Given the description of an element on the screen output the (x, y) to click on. 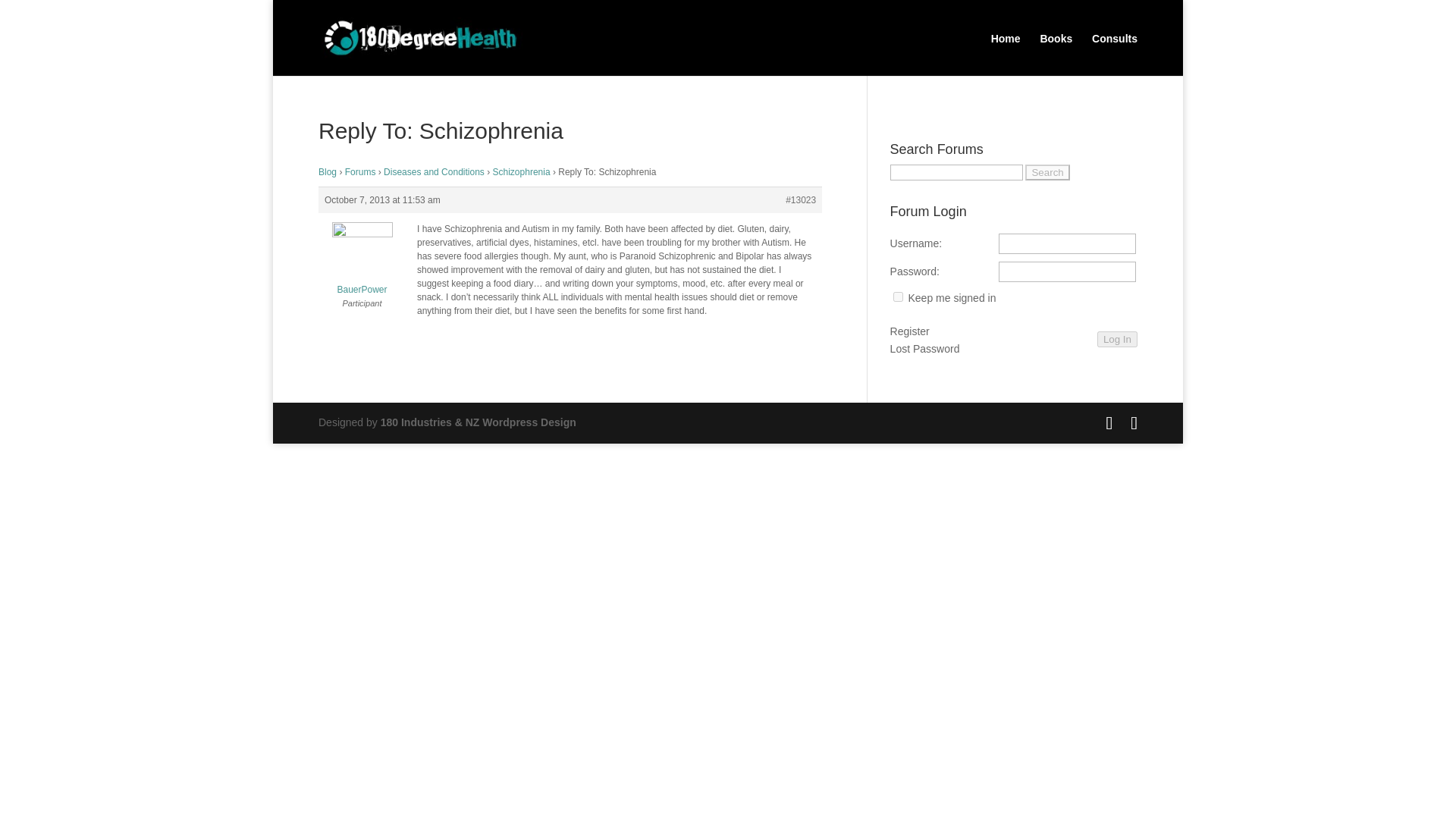
View BauerPower's profile (362, 262)
Schizophrenia (521, 172)
NZ Wordpress Design (478, 422)
Home (1005, 49)
Books (1055, 49)
BauerPower (362, 262)
Lost Password (924, 349)
Lost Password (924, 349)
Forums (360, 172)
Search (1046, 172)
Log In (1117, 339)
forever (897, 296)
Register (909, 331)
Register (909, 331)
Search (1046, 172)
